Given the description of an element on the screen output the (x, y) to click on. 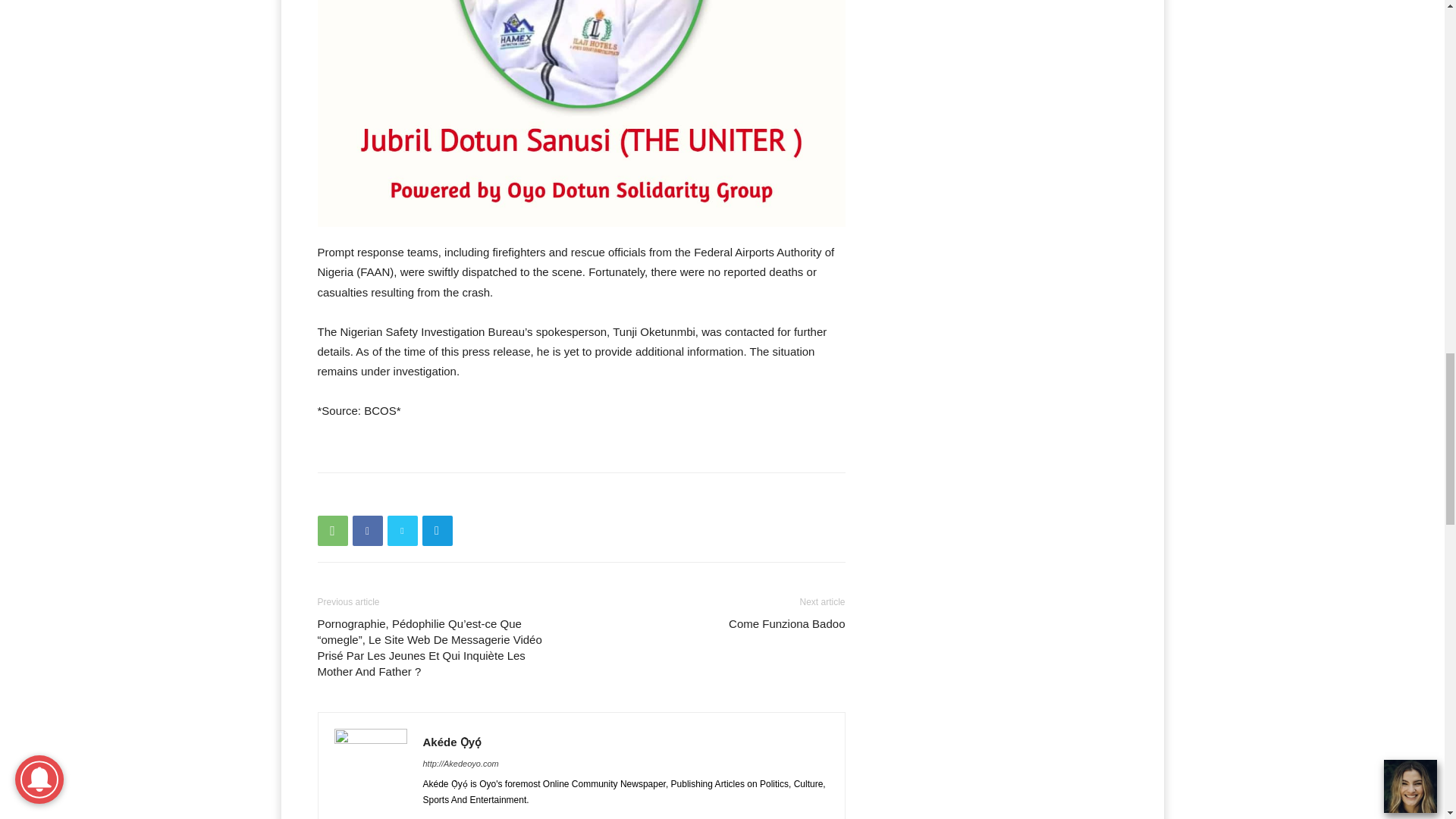
Come Funziona Badoo (786, 623)
